Given the description of an element on the screen output the (x, y) to click on. 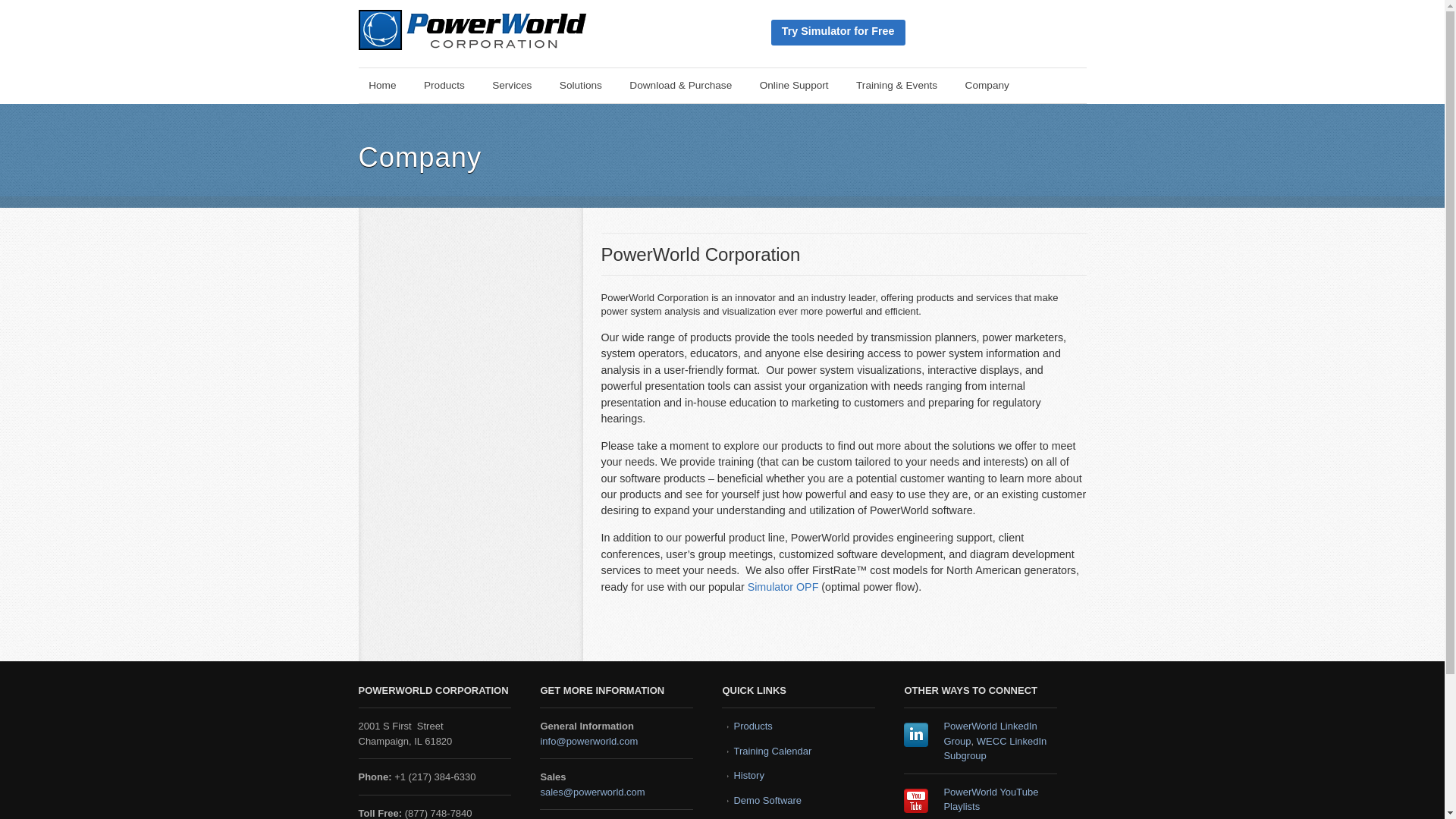
Skip to main content (368, 78)
Simulator OPF (783, 586)
Services (511, 84)
Try Simulator for Free (837, 32)
Solutions (579, 84)
linked-in (916, 734)
Skip to main content (368, 78)
Products (443, 84)
Online Support (793, 84)
Home (382, 84)
youtube (916, 800)
